Given the description of an element on the screen output the (x, y) to click on. 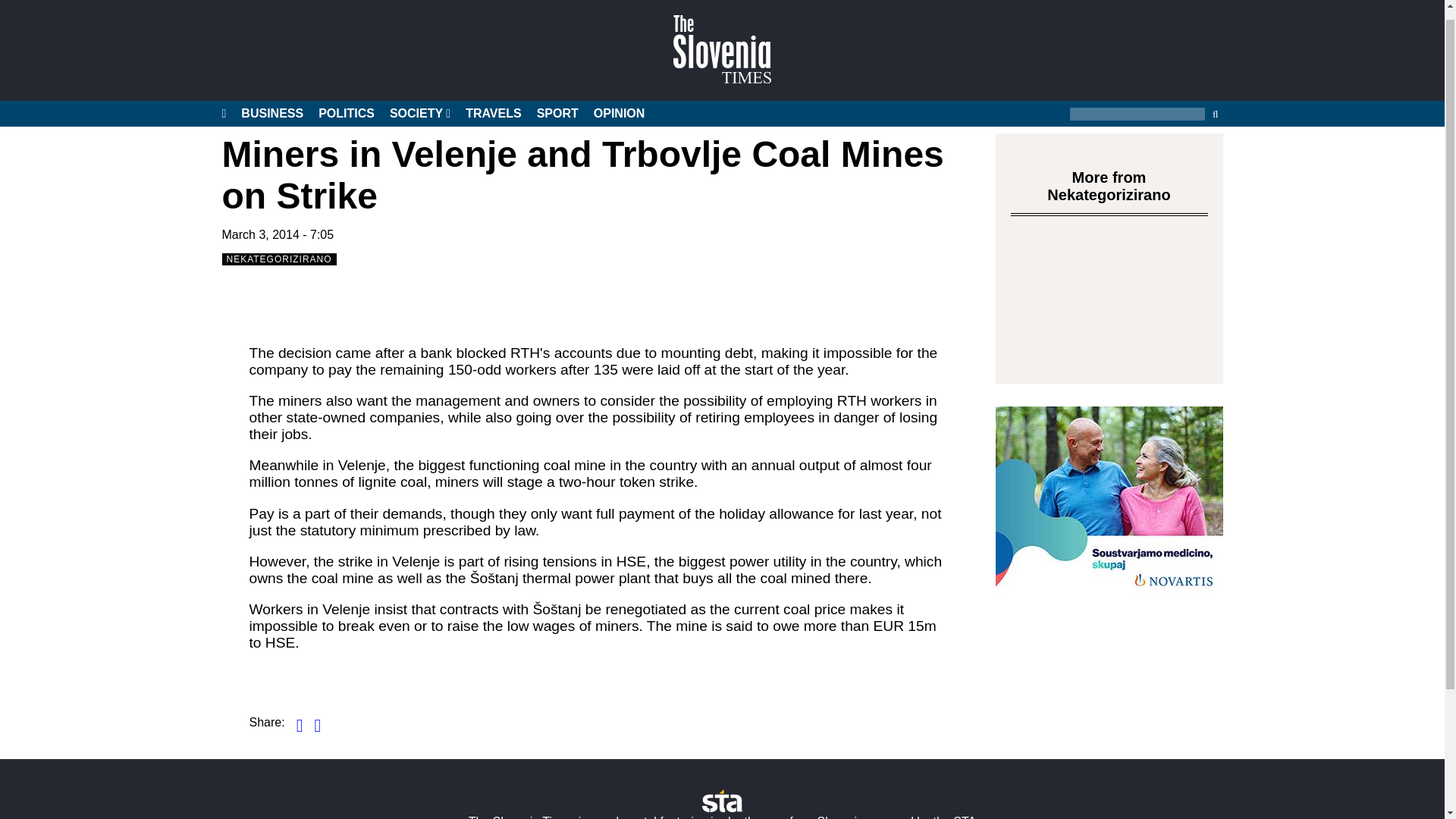
POLITICS (346, 103)
BUSINESS (271, 103)
OPINION (619, 103)
TRAVELS (493, 103)
SPORT (557, 103)
